Given the description of an element on the screen output the (x, y) to click on. 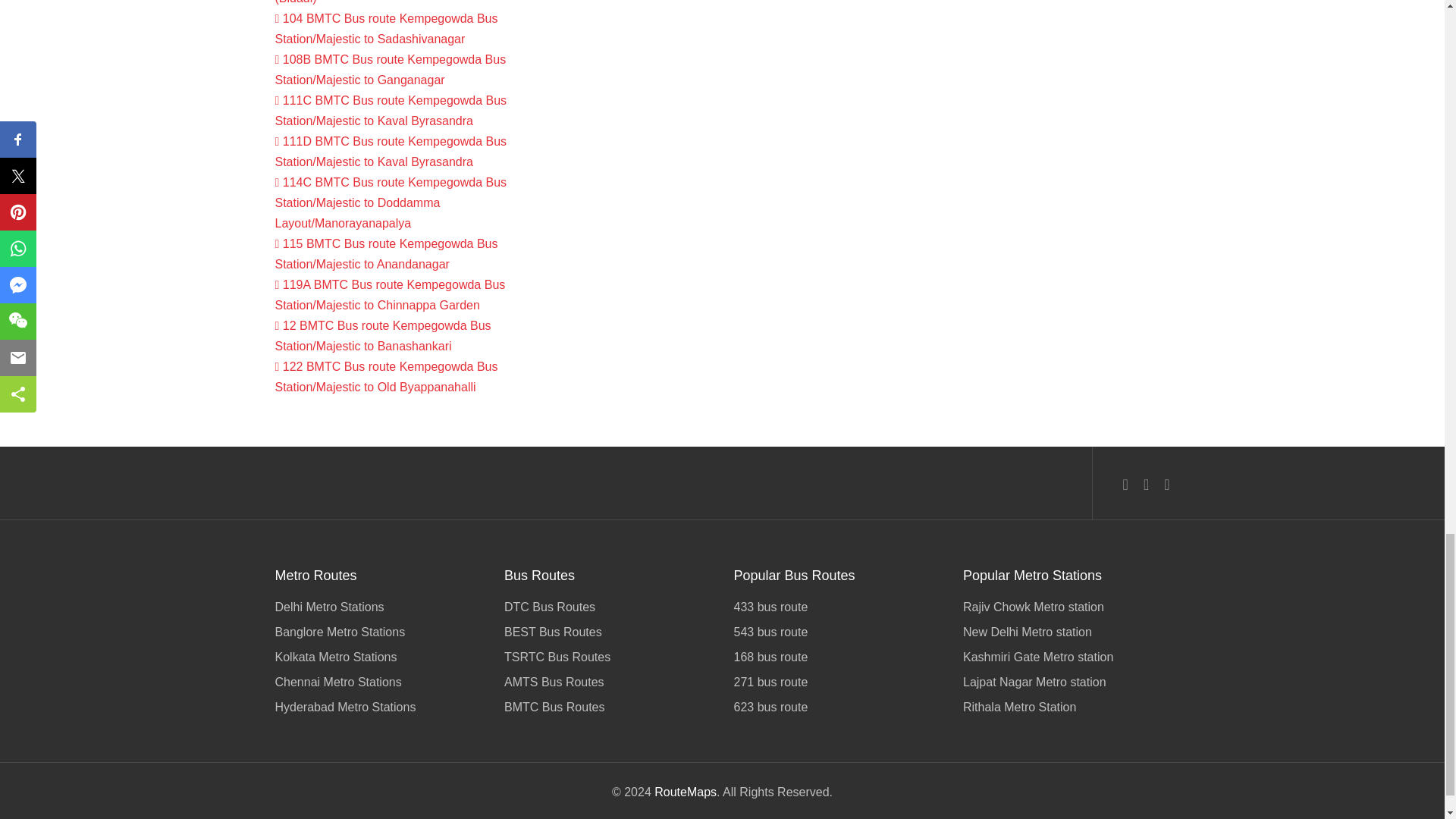
Twitter (1145, 485)
TSRTC Bus Routes (607, 656)
543 bus route (836, 631)
168 bus route (836, 656)
AMTS Bus Routes (607, 681)
Rajiv Chowk Metro station (1066, 608)
Hyderabad Metro Stations (378, 705)
433 bus route (836, 608)
271 bus route (836, 681)
Kolkata Metro Stations (378, 656)
Facebook (1125, 485)
623 bus route (836, 705)
BMTC Bus Routes (607, 705)
DTC Bus Routes (607, 608)
Pinterest (1166, 485)
